Given the description of an element on the screen output the (x, y) to click on. 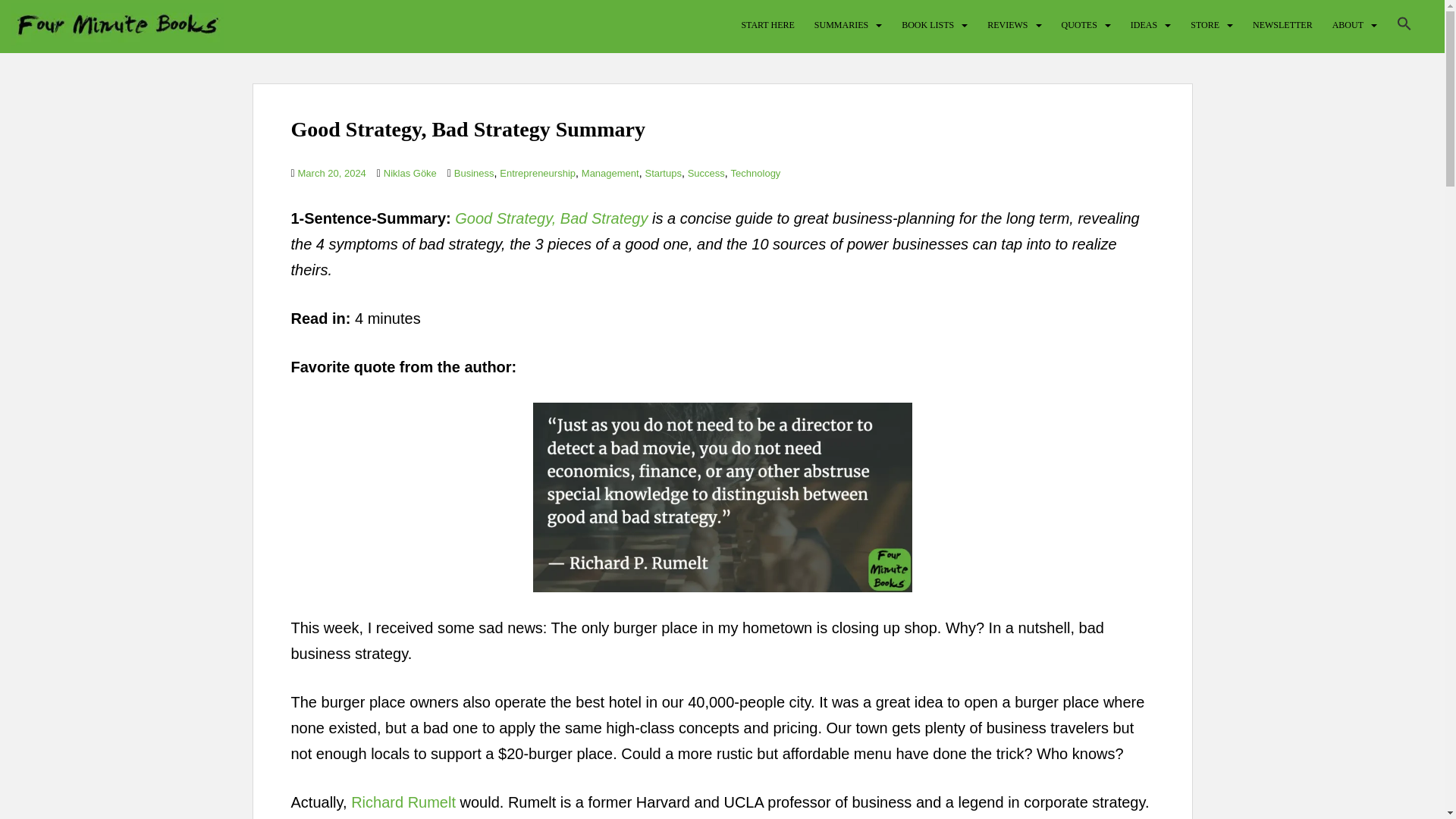
BOOK LISTS (927, 24)
START HERE (767, 24)
SUMMARIES (840, 24)
